Given the description of an element on the screen output the (x, y) to click on. 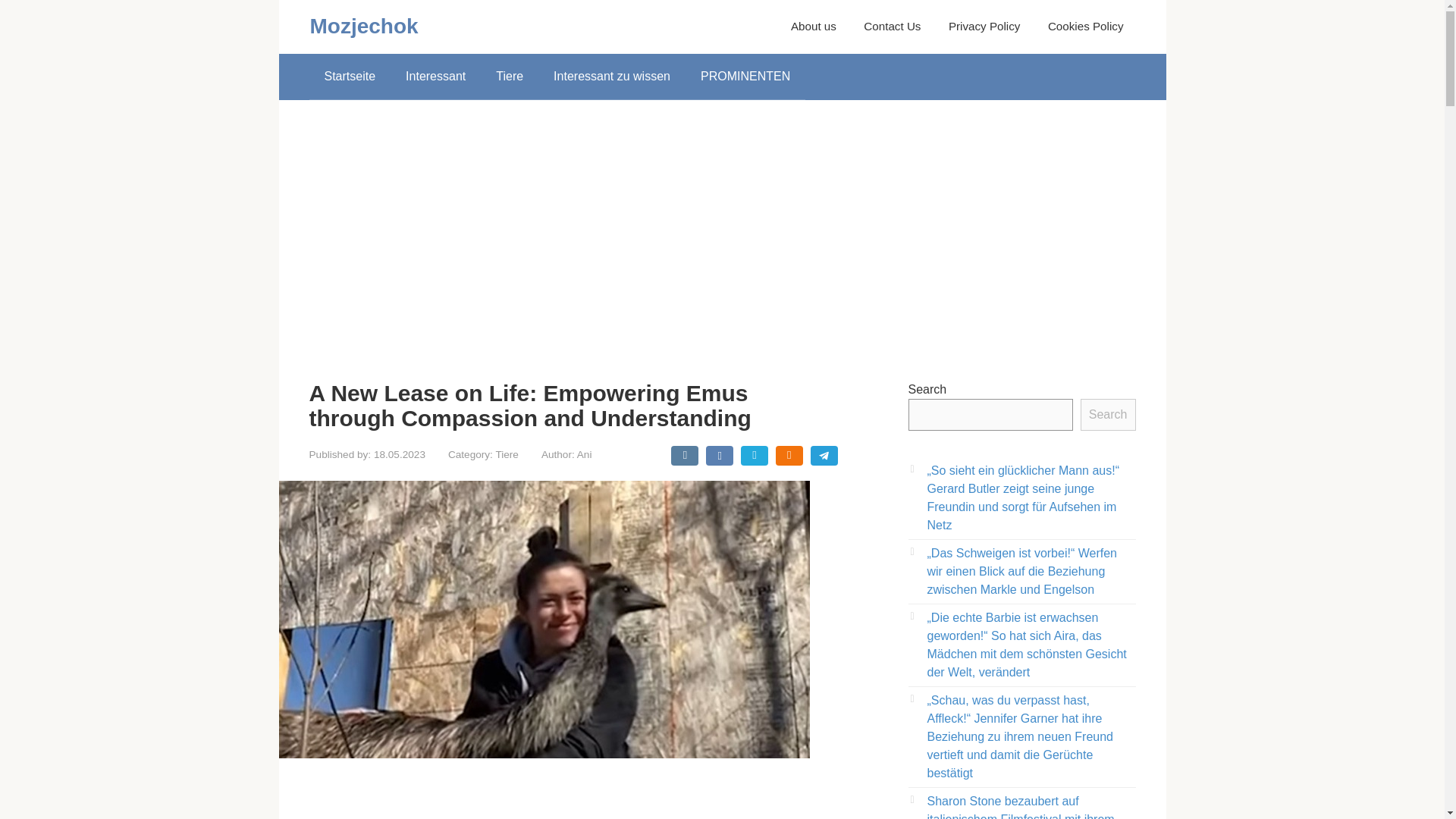
Privacy Policy (984, 26)
Interessant (435, 76)
Tiere (509, 76)
Tiere (506, 454)
About us (812, 26)
Contact Us (891, 26)
Cookies Policy (1086, 26)
Search (1107, 414)
Mozjechok (362, 25)
